Given the description of an element on the screen output the (x, y) to click on. 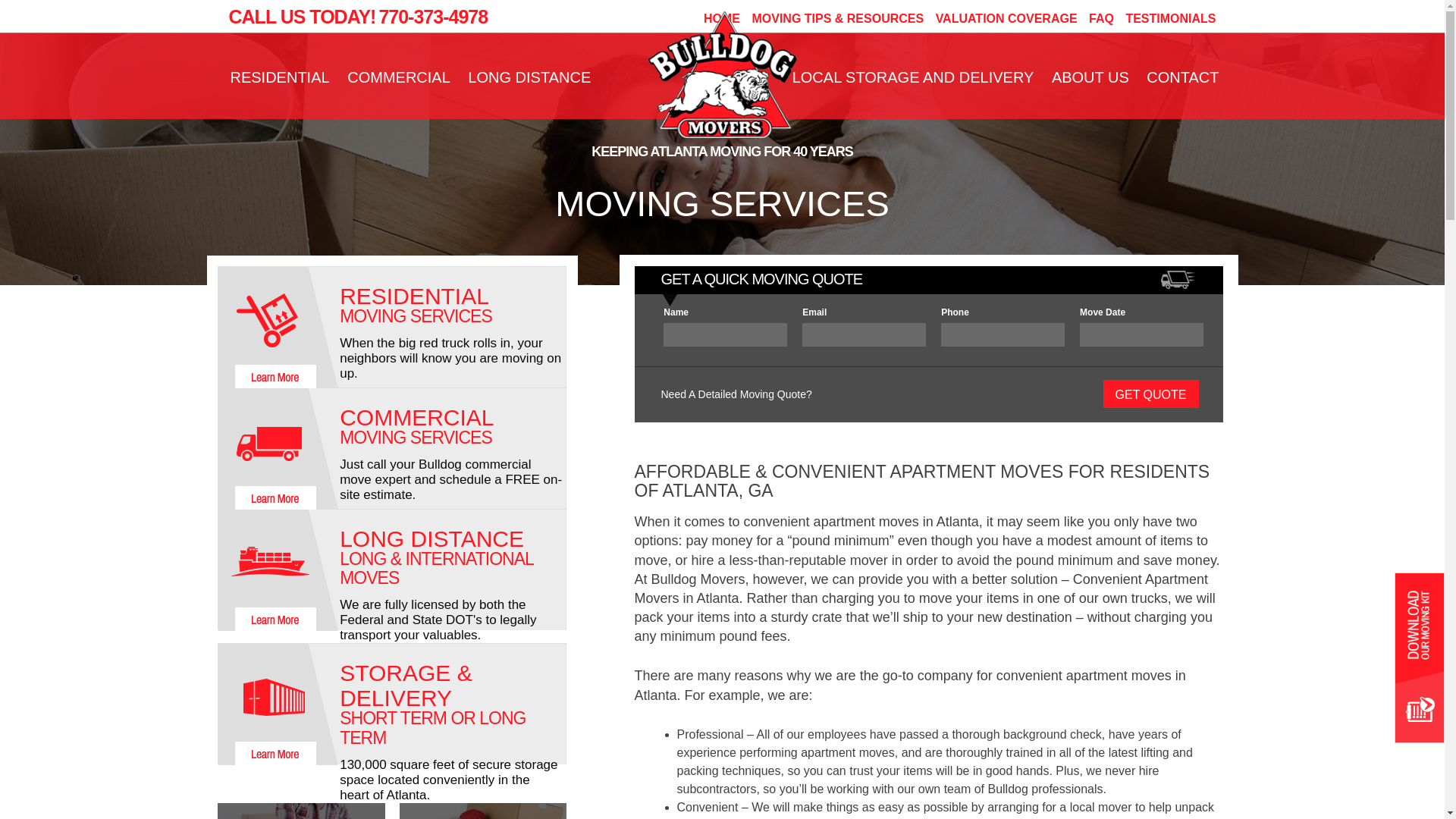
LOCAL STORAGE AND DELIVERY (912, 76)
LONG DISTANCE (529, 76)
Need A Detailed Moving Quote? (736, 394)
RESIDENTIAL (280, 76)
Get Quote (1150, 393)
CONTACT (1182, 76)
ABOUT US (1090, 76)
FAQ (1101, 18)
VALUATION COVERAGE (1006, 18)
TESTIMONIALS (1170, 18)
COMMERCIAL (398, 76)
Get Quote (1150, 393)
HOME (721, 18)
